Given the description of an element on the screen output the (x, y) to click on. 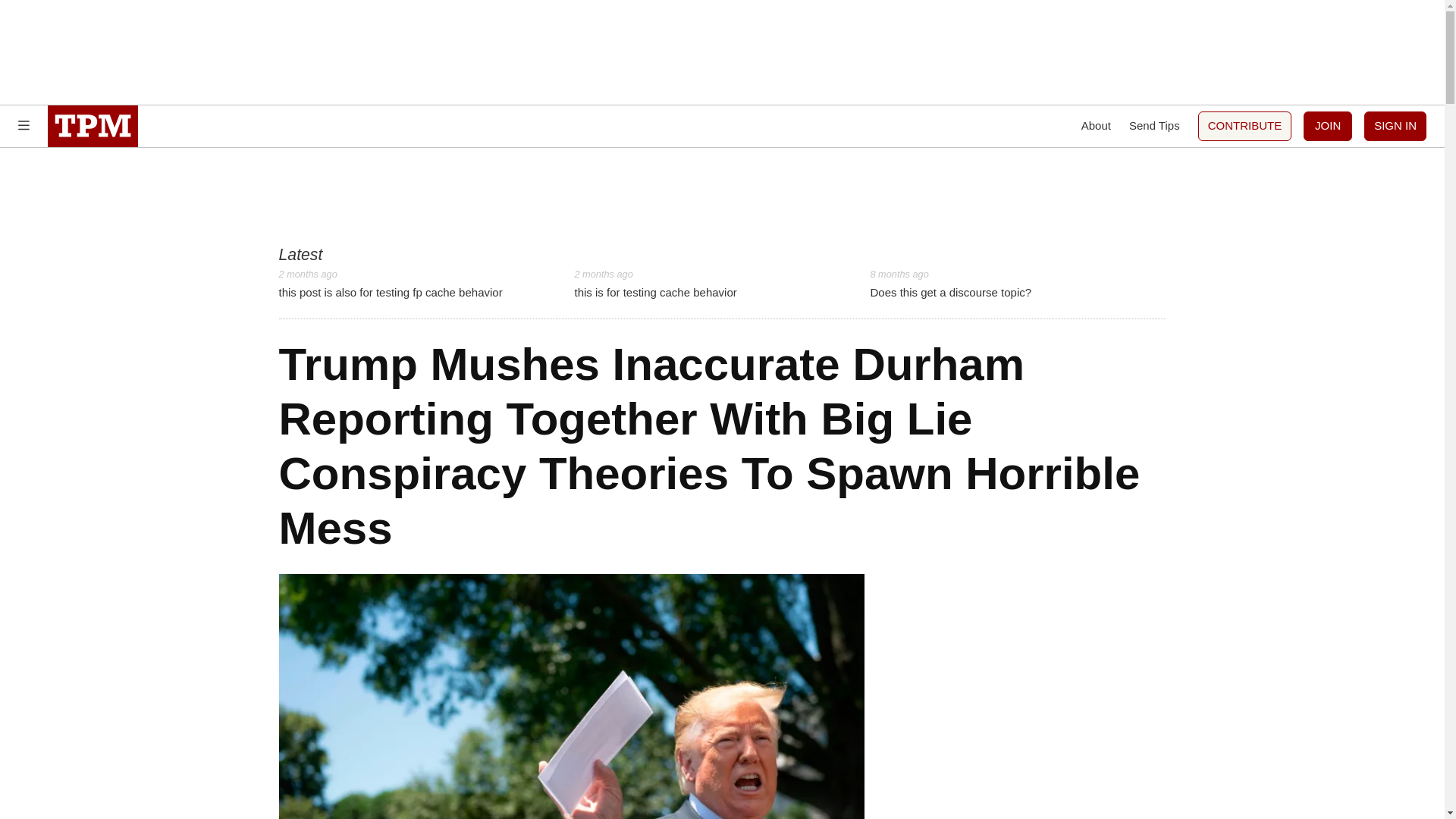
CONTRIBUTE (721, 283)
JOIN (1245, 125)
About (427, 283)
SIGN IN (1327, 125)
Send Tips (1095, 125)
